Given the description of an element on the screen output the (x, y) to click on. 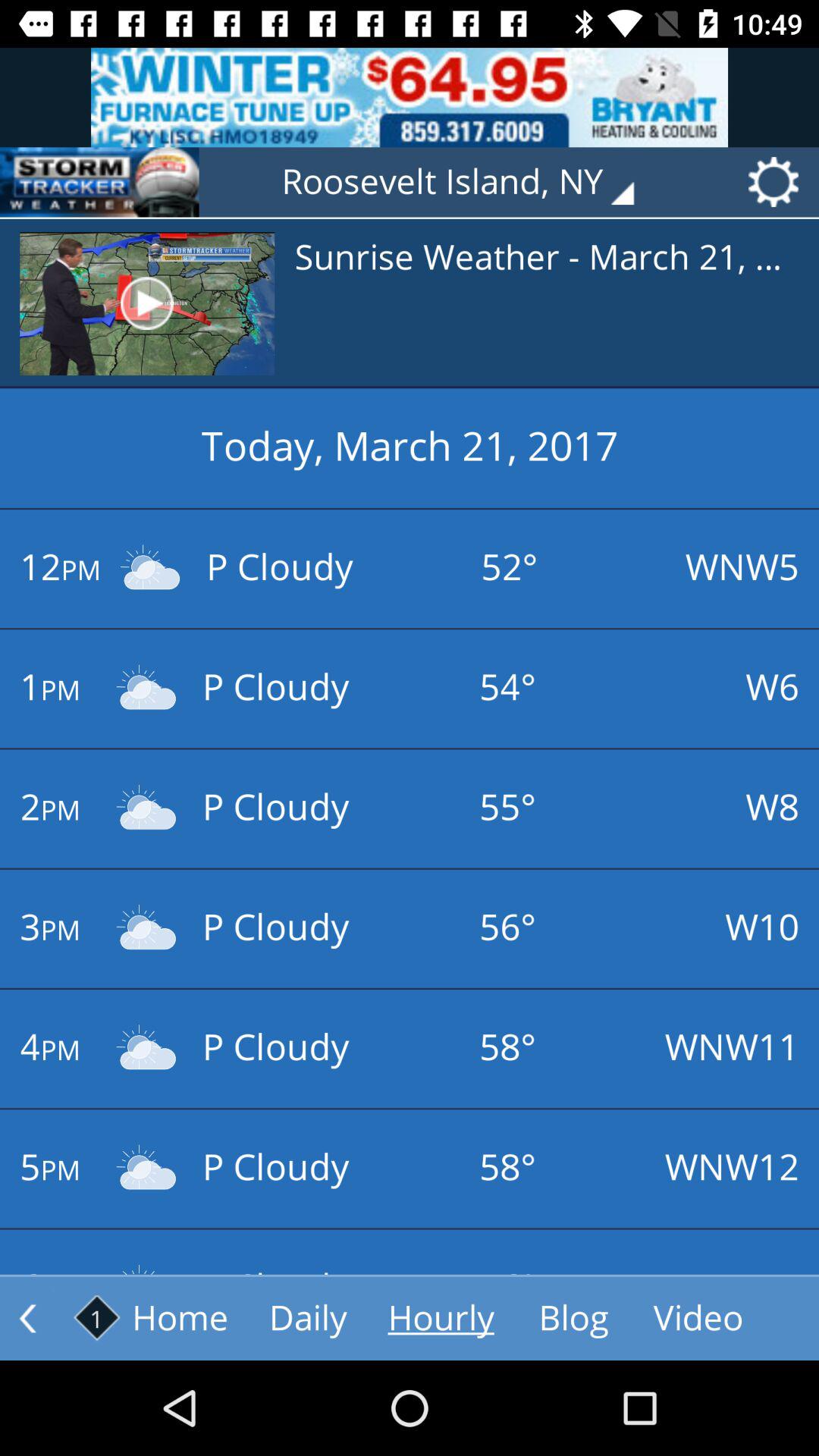
takes you to the advertisement webpage (409, 97)
